Given the description of an element on the screen output the (x, y) to click on. 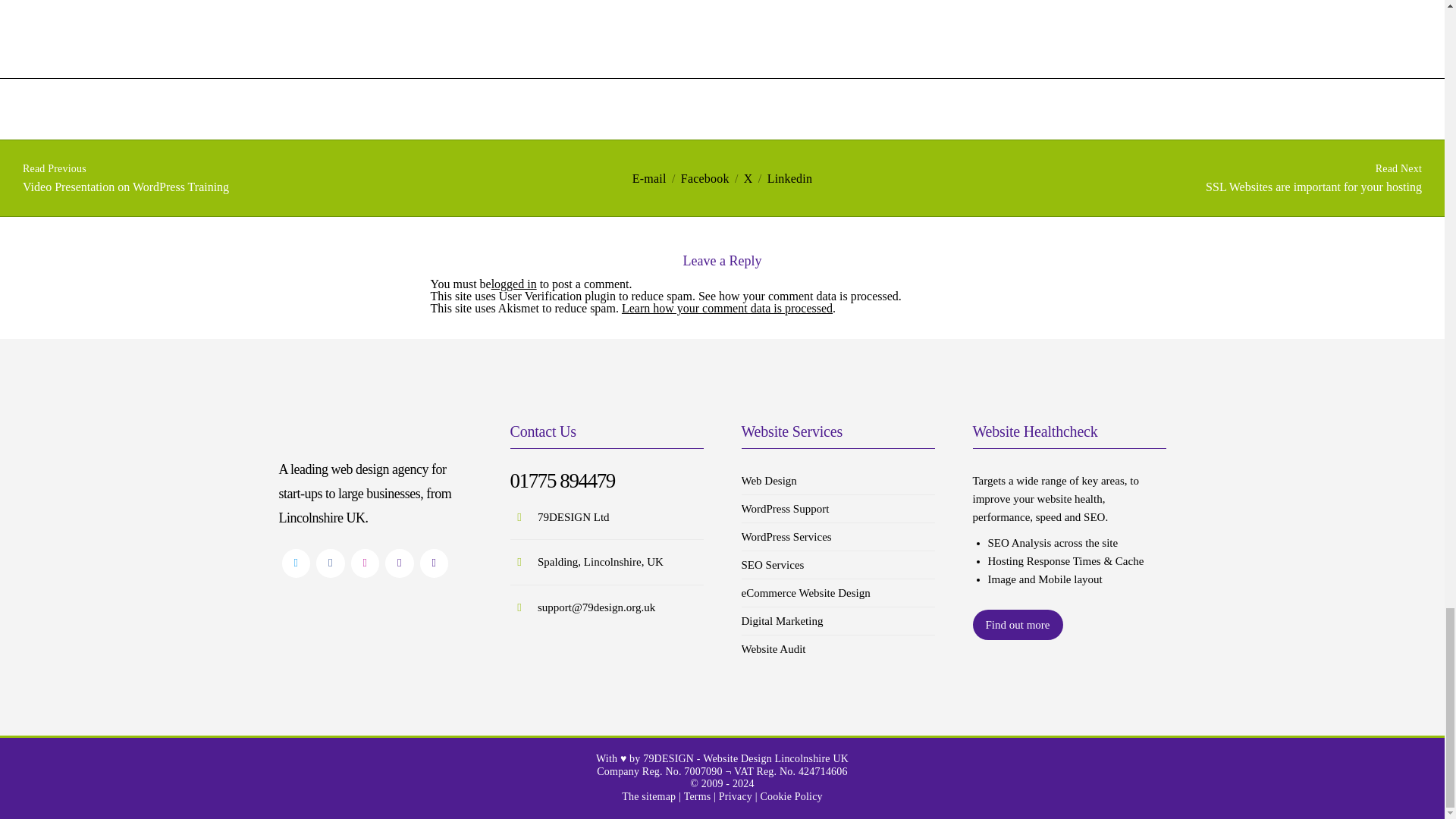
Is your Shop on Google Merchant Products? (789, 178)
Is your Shop on Google Merchant Products? (705, 178)
Is your Shop on Google Merchant Products? (648, 178)
